Given the description of an element on the screen output the (x, y) to click on. 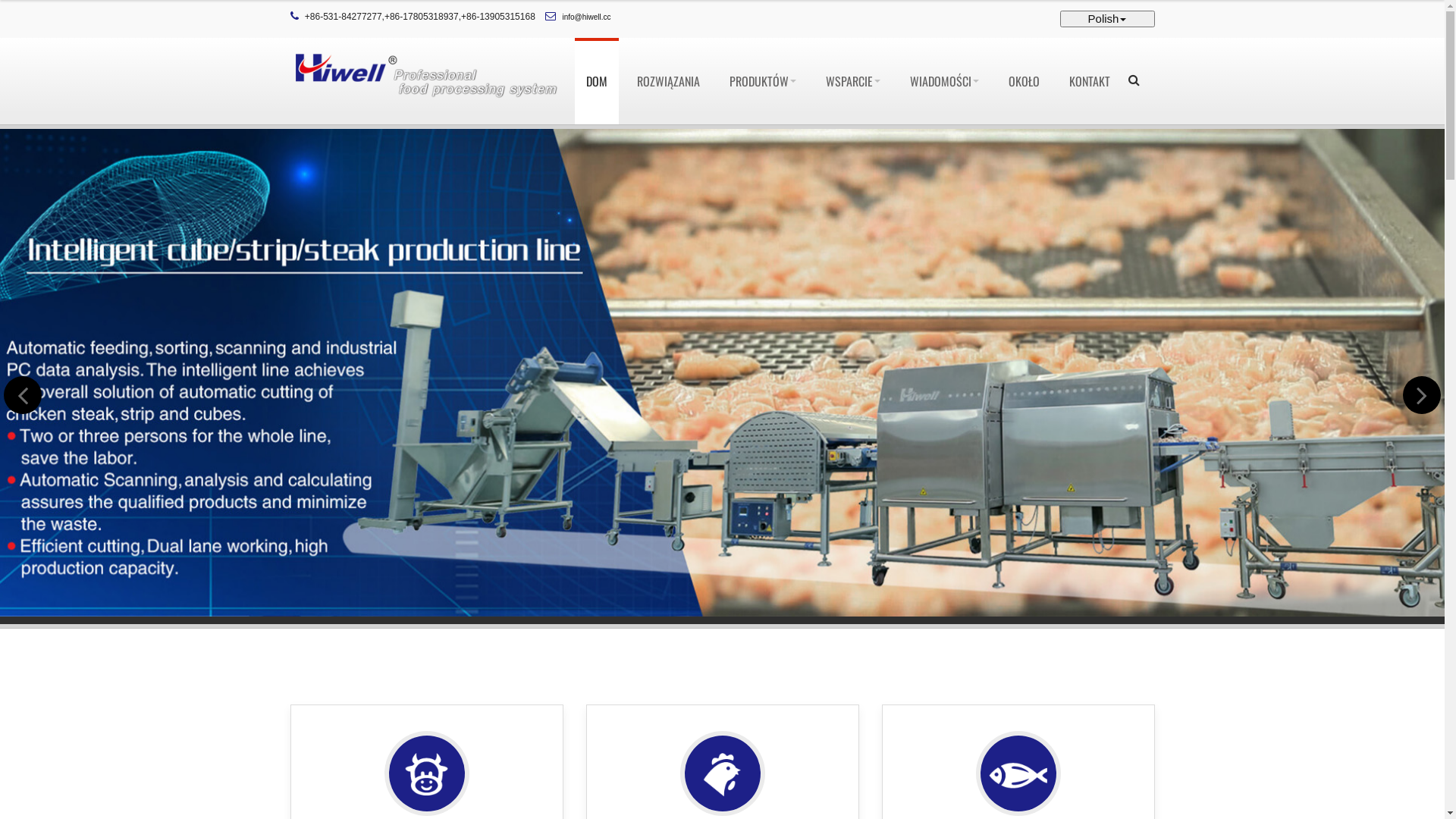
Polish Element type: text (1107, 18)
KONTAKT Element type: text (1088, 80)
DOM Element type: text (596, 80)
WSPARCIE Element type: text (852, 80)
info@hiwell.cc Element type: text (586, 16)
